Given the description of an element on the screen output the (x, y) to click on. 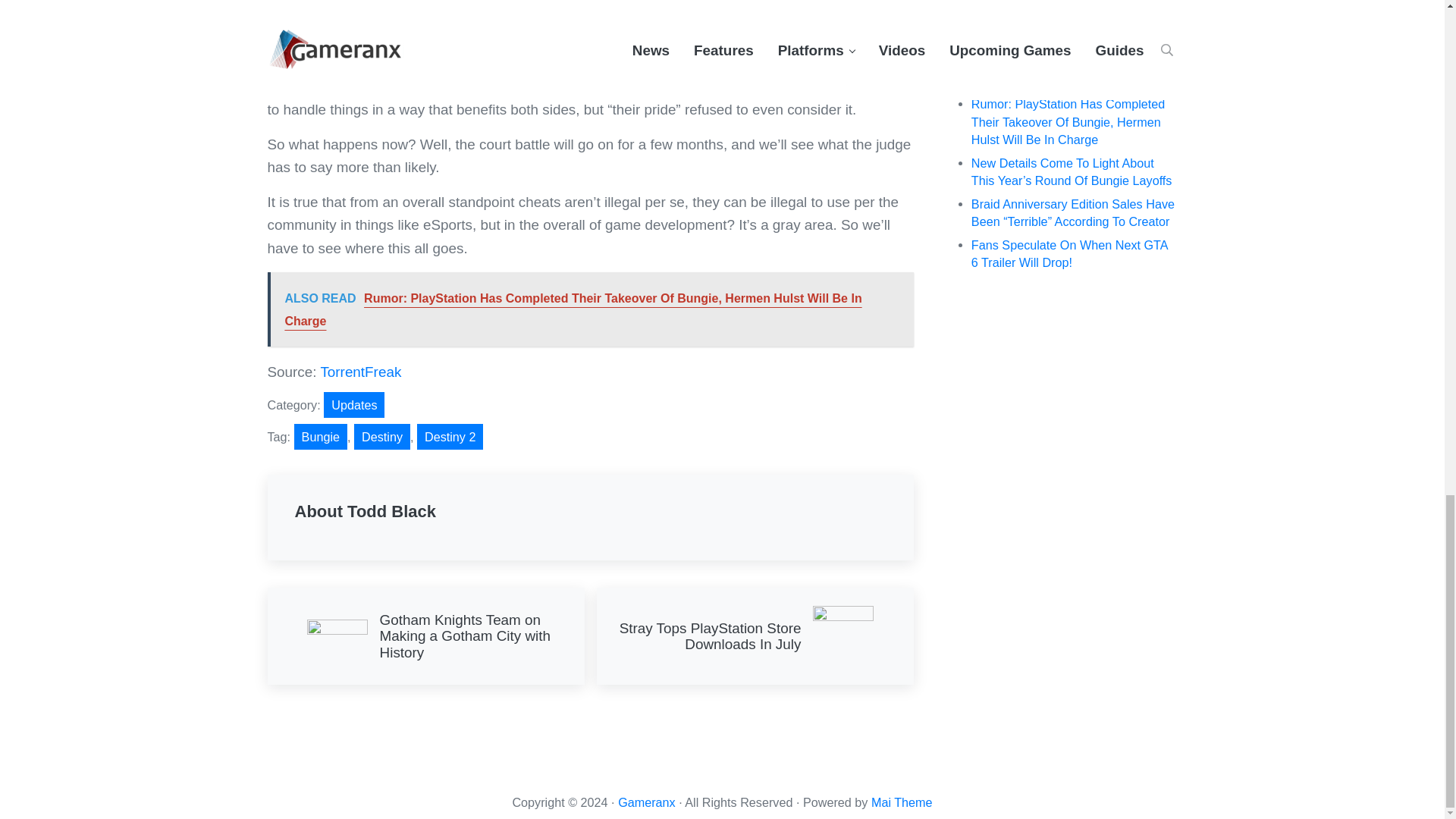
Bungie (320, 436)
Destiny 2 (449, 436)
Updates (753, 636)
Destiny (353, 404)
ALSO READ  Bungie Laying Off 17 Percent of Workforce (381, 436)
TorrentFreak (589, 34)
